Given the description of an element on the screen output the (x, y) to click on. 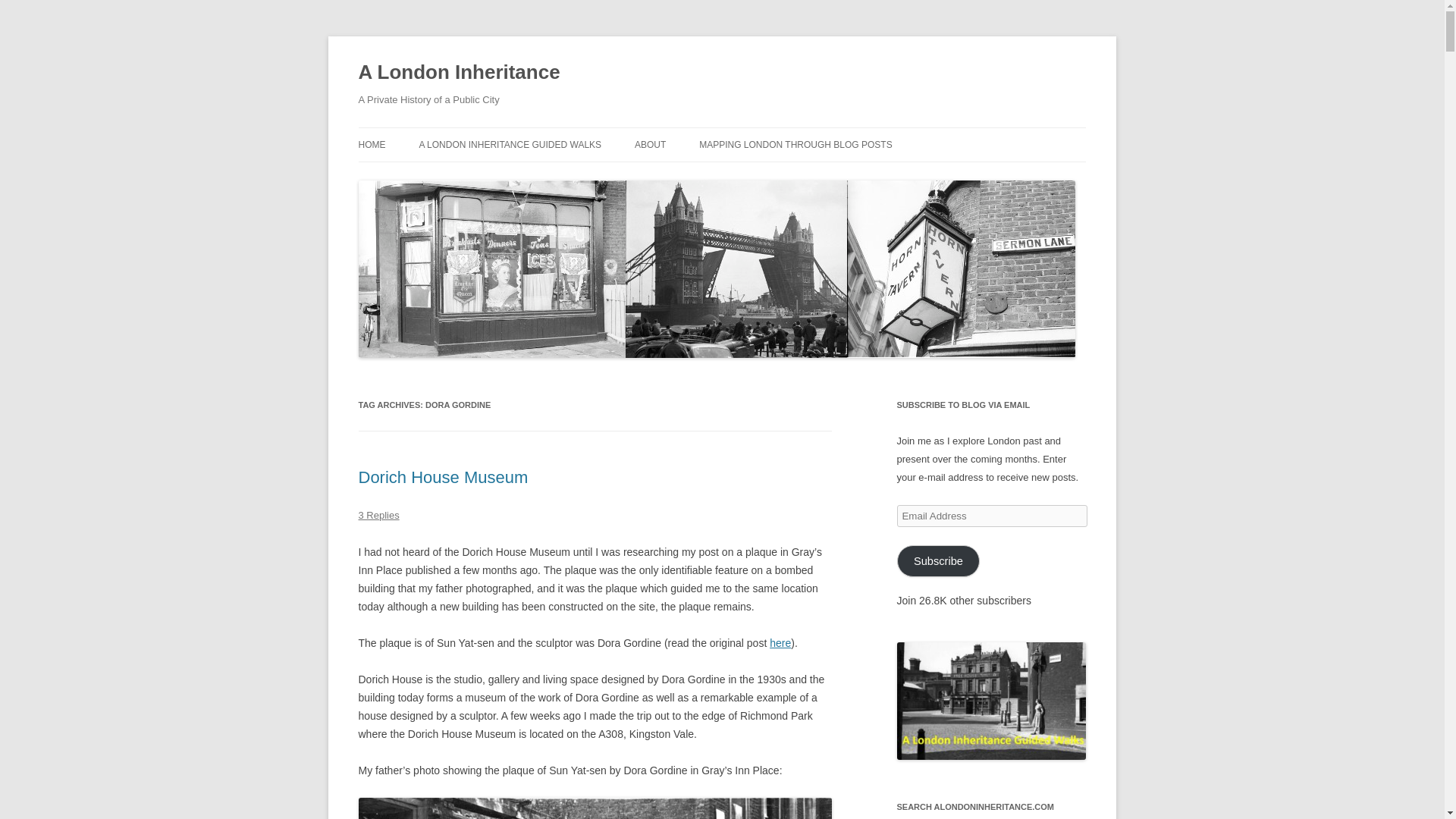
MAPPING LONDON THROUGH BLOG POSTS (794, 144)
HOME (371, 144)
A London Inheritance (458, 72)
ABOUT (649, 144)
A MAP OF ALL MY BLOG POSTS (774, 176)
A LONDON INHERITANCE GUIDED WALKS (510, 144)
here (780, 643)
A London Inheritance (458, 72)
Dorich House Museum (442, 476)
3 Replies (378, 514)
